Given the description of an element on the screen output the (x, y) to click on. 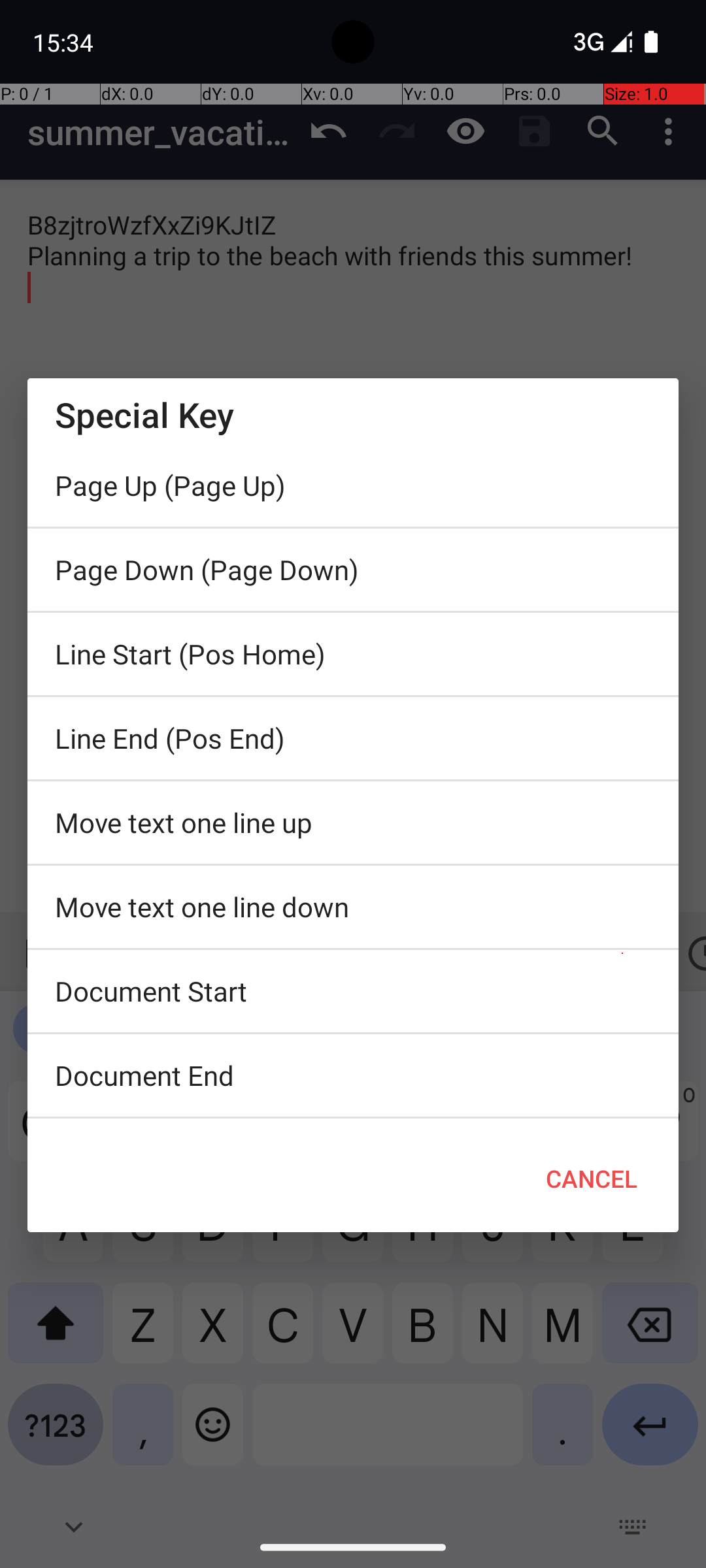
Page Up (Page Up) Element type: android.widget.TextView (352, 485)
Page Down (Page Down) Element type: android.widget.TextView (352, 569)
Line Start (Pos Home) Element type: android.widget.TextView (352, 653)
Line End (Pos End) Element type: android.widget.TextView (352, 738)
Move text one line up Element type: android.widget.TextView (352, 822)
Move text one line down Element type: android.widget.TextView (352, 906)
Document Start Element type: android.widget.TextView (352, 990)
Document End Element type: android.widget.TextView (352, 1075)
Select all (Ctrl+A) Element type: android.widget.TextView (352, 1121)
